Given the description of an element on the screen output the (x, y) to click on. 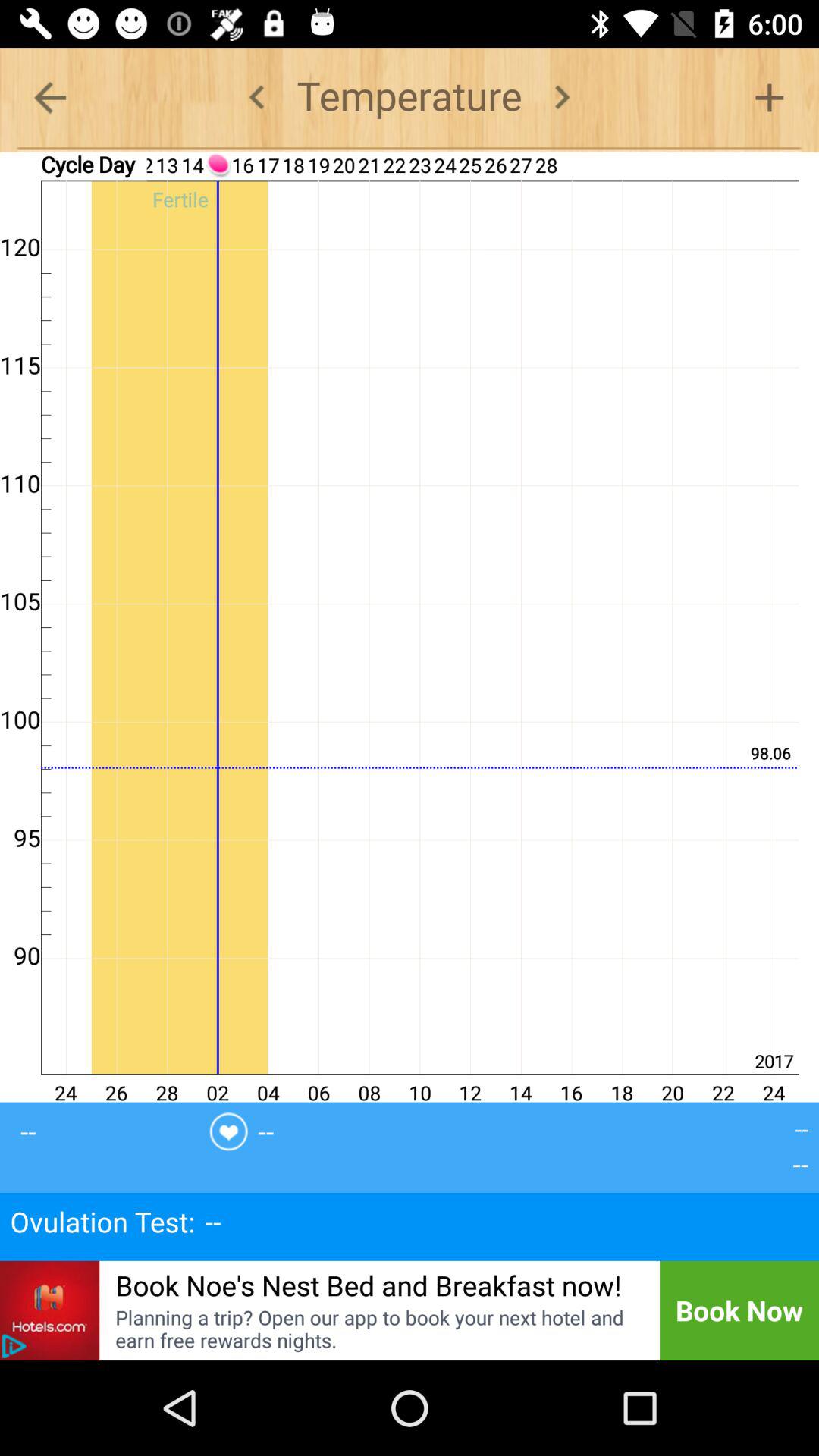
playstore button banner add (14, 1346)
